Given the description of an element on the screen output the (x, y) to click on. 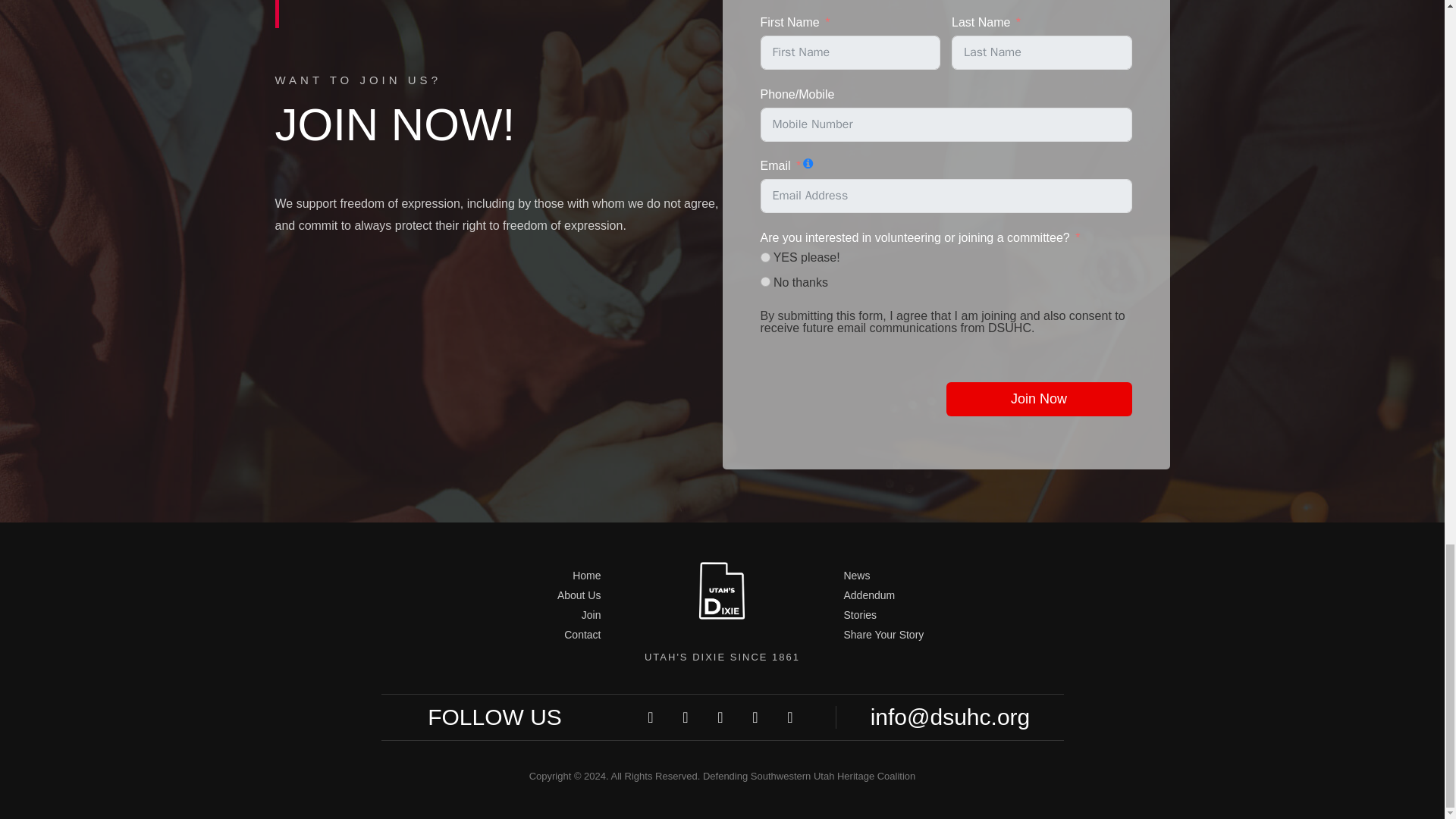
Home (493, 575)
YES please! (765, 257)
News (949, 575)
Join (493, 615)
Join Now (1039, 399)
Addendum (949, 595)
Stories (949, 615)
Contact (493, 634)
Share Your Story (949, 634)
About Us (493, 595)
